Given the description of an element on the screen output the (x, y) to click on. 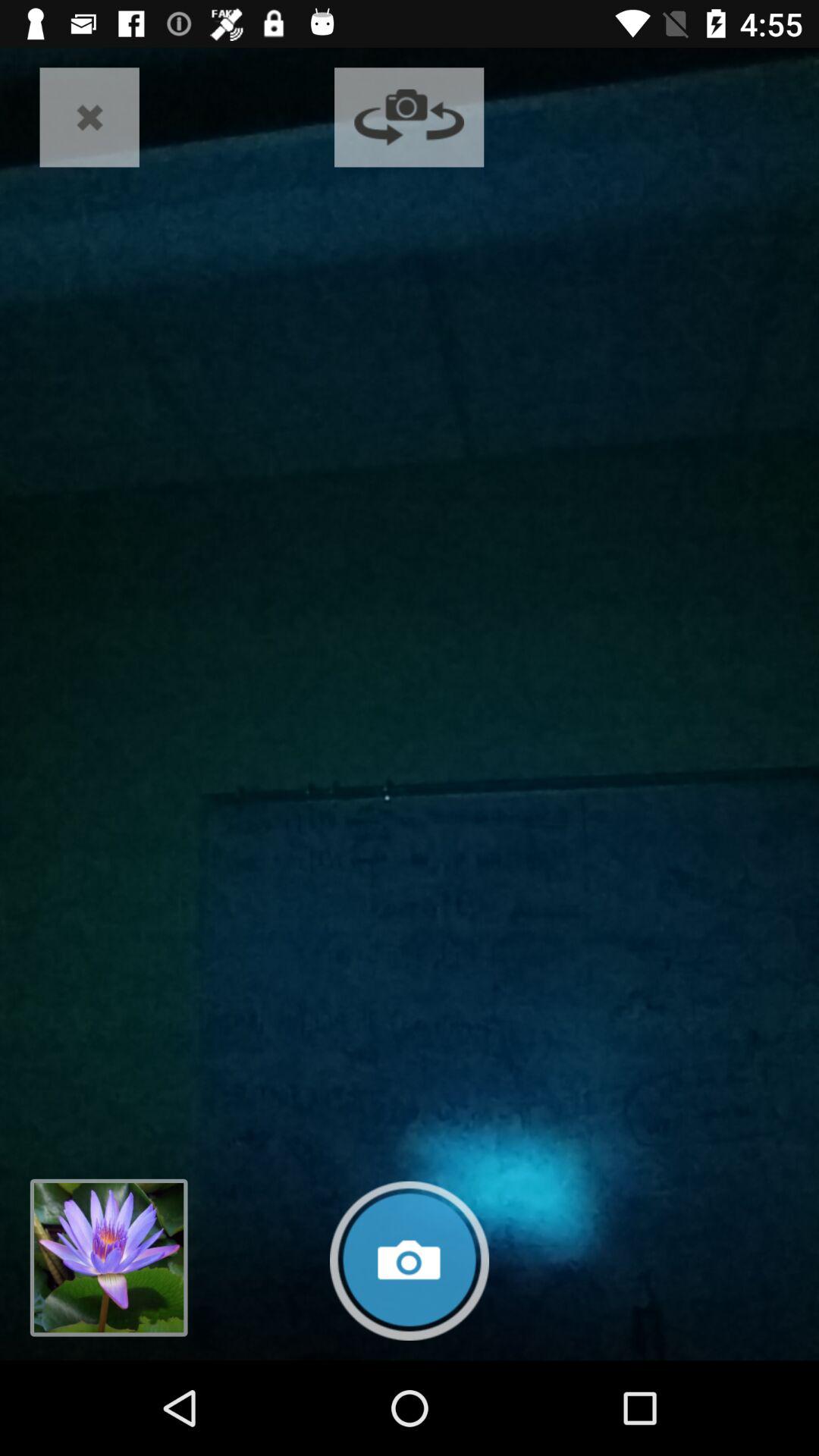
open the icon at the bottom left corner (108, 1257)
